Given the description of an element on the screen output the (x, y) to click on. 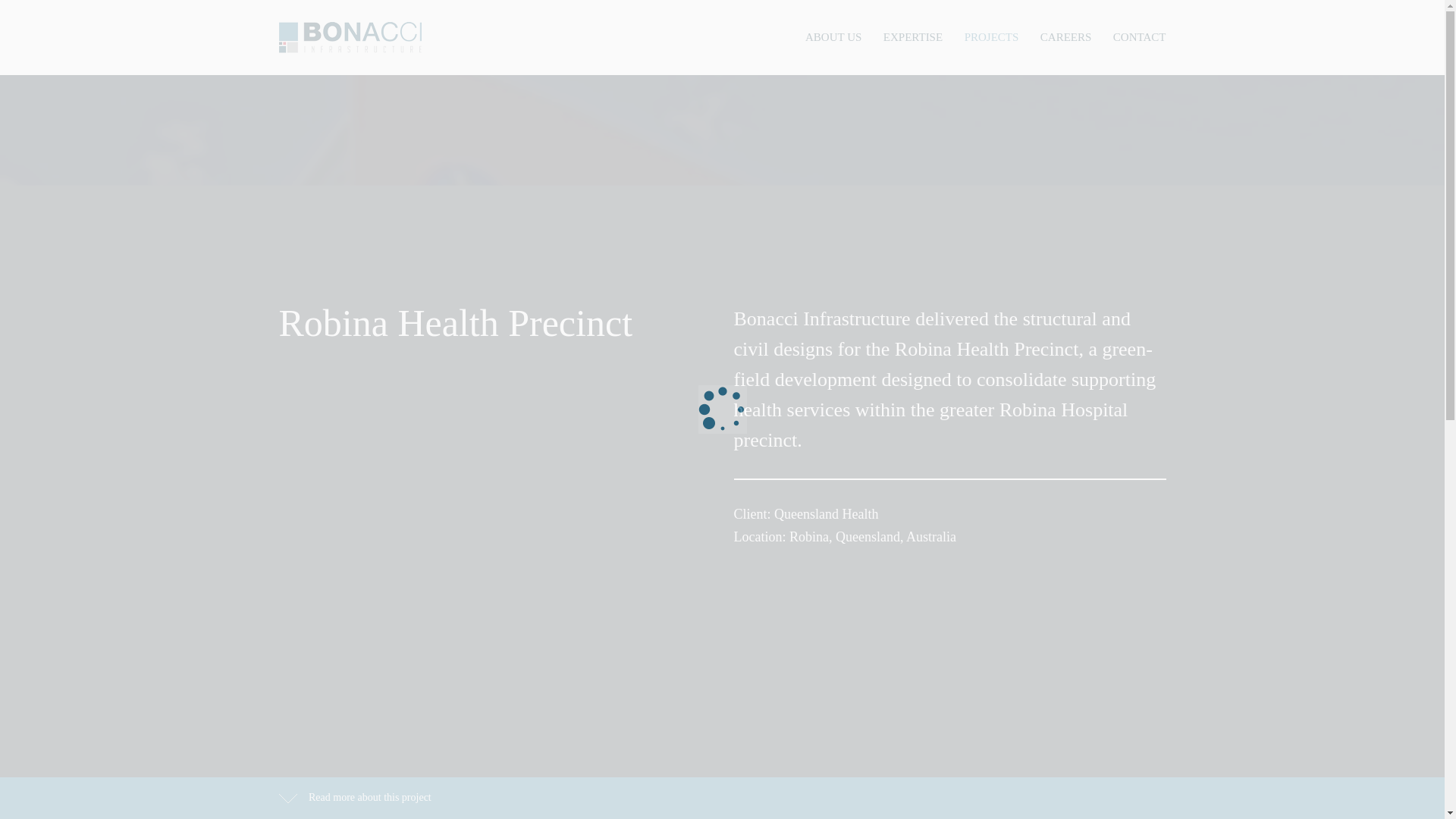
PROJECTS (991, 36)
Read more about this project (354, 797)
CAREERS (1066, 36)
EXPERTISE (912, 36)
CONTACT (1139, 36)
ABOUT US (833, 36)
